Given the description of an element on the screen output the (x, y) to click on. 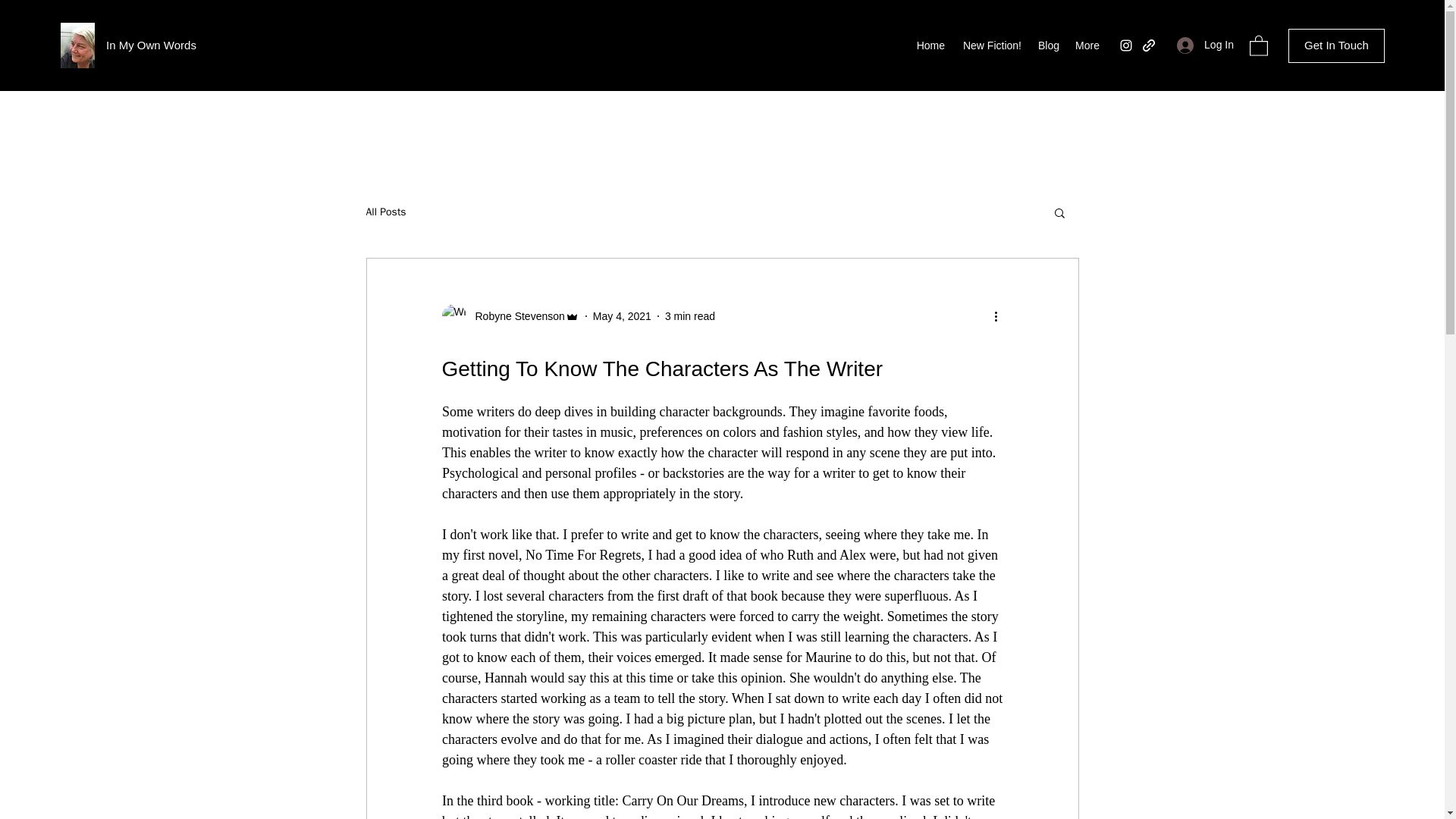
Robyne Stevenson (514, 315)
Home (929, 45)
3 min read (689, 315)
Log In (1205, 44)
Robyne Stevenson (509, 315)
Blog (1048, 45)
Get In Touch (1336, 45)
May 4, 2021 (621, 315)
All Posts (385, 212)
New Fiction! (990, 45)
